Given the description of an element on the screen output the (x, y) to click on. 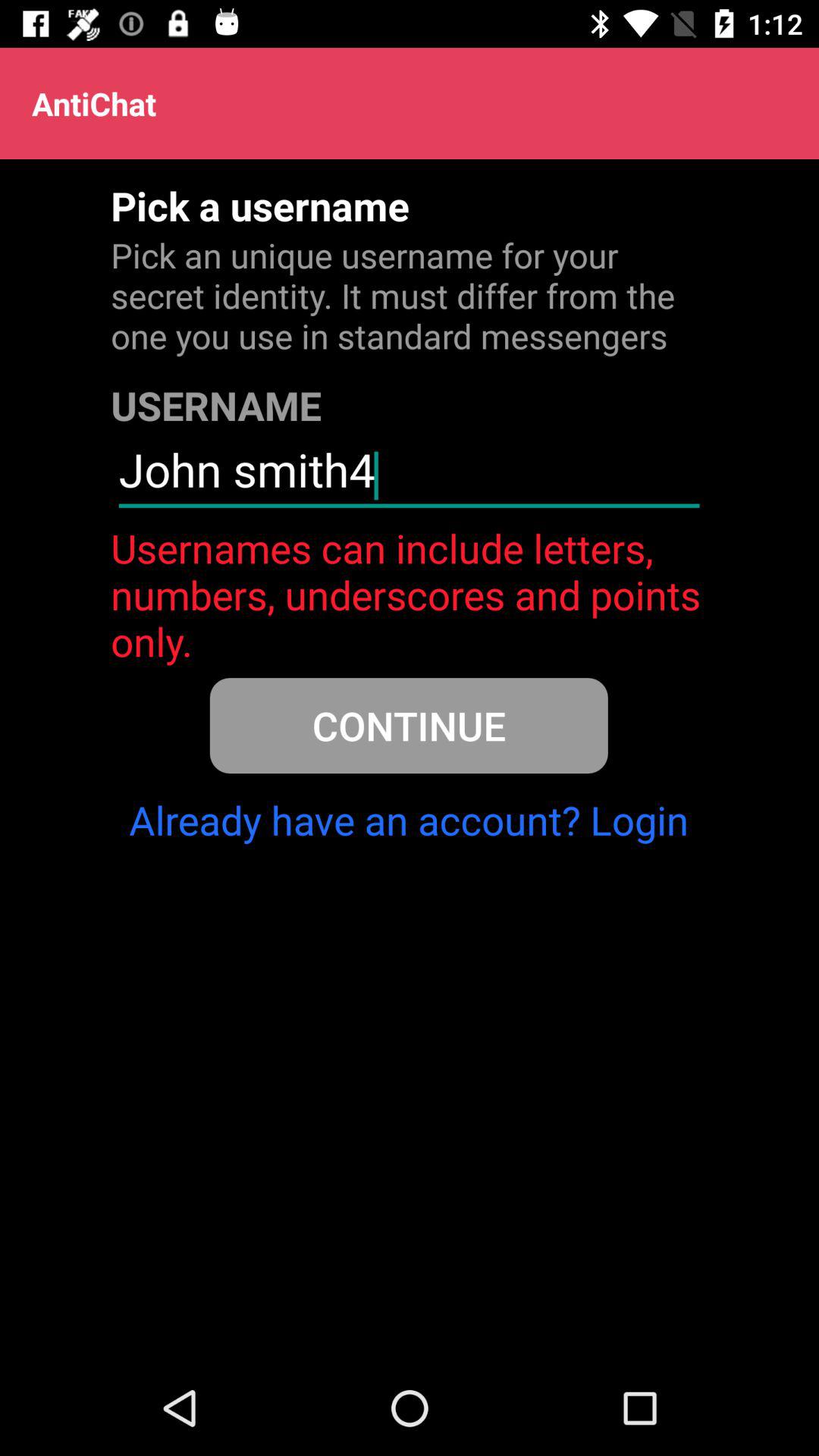
click the icon below the continue item (408, 819)
